Given the description of an element on the screen output the (x, y) to click on. 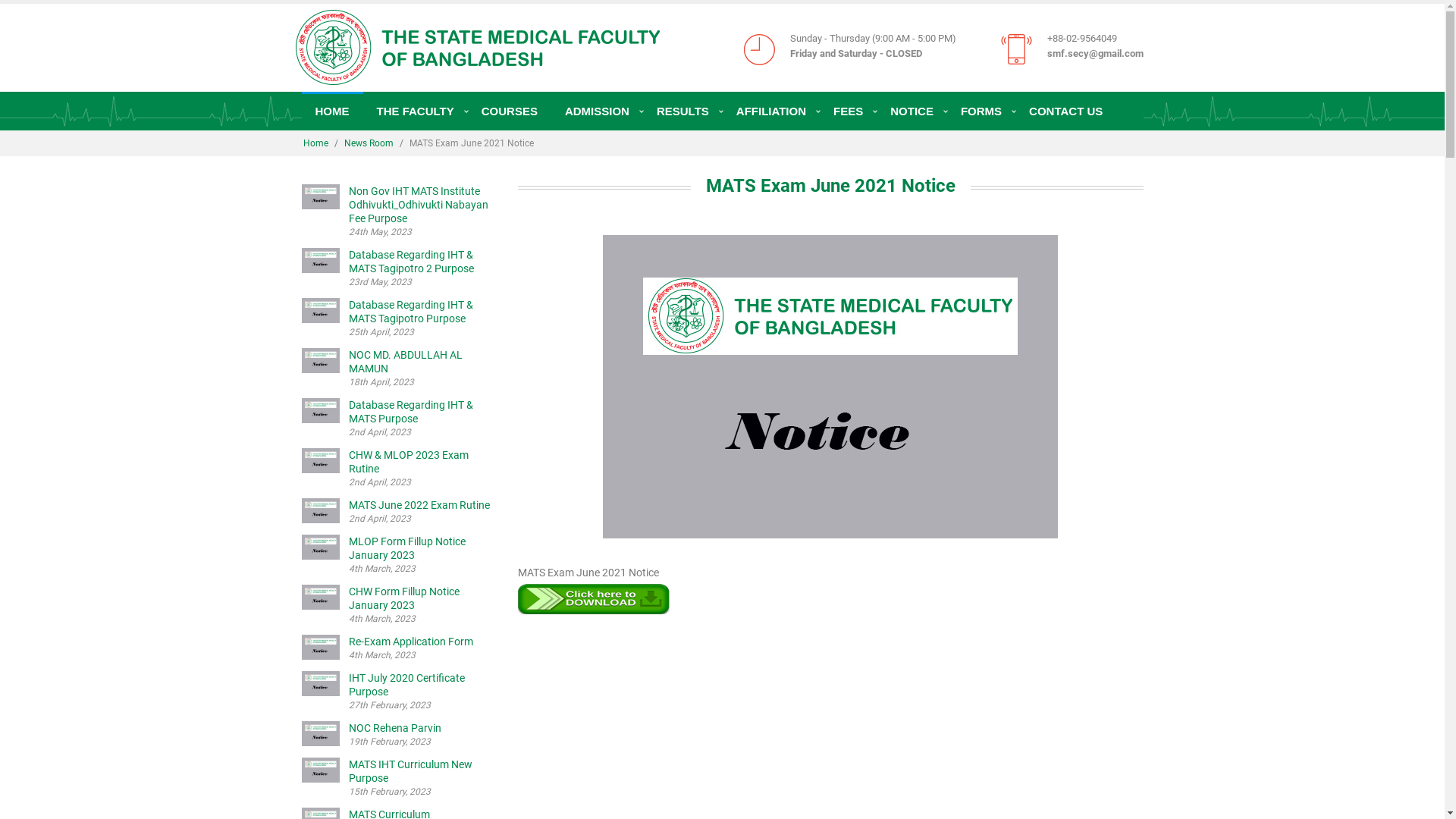
Re-Exam Application Form Element type: text (410, 641)
CONTACT US Element type: text (1065, 110)
RESULTS Element type: text (682, 110)
NOC Rehena Parvin Element type: text (394, 727)
COURSES Element type: text (509, 110)
HOME Element type: text (332, 110)
MATS June 2022 Exam Rutine Element type: text (418, 504)
FORMS Element type: text (981, 110)
AFFILIATION Element type: text (770, 110)
Database Regarding IHT & MATS Tagipotro Purpose Element type: text (410, 311)
THE FACULTY Element type: text (414, 110)
CHW & MLOP 2023 Exam Rutine Element type: text (408, 461)
Database Regarding IHT & MATS Tagipotro 2 Purpose Element type: text (410, 261)
MATS IHT Curriculum New Purpose Element type: text (410, 771)
News Room Element type: text (368, 143)
Database Regarding IHT & MATS Purpose Element type: text (410, 411)
NOTICE Element type: text (911, 110)
MLOP Form Fillup Notice January 2023 Element type: text (406, 548)
ADMISSION Element type: text (597, 110)
NOC MD. ABDULLAH AL MAMUN Element type: text (405, 361)
FEES Element type: text (847, 110)
Home Element type: text (315, 143)
IHT July 2020 Certificate Purpose Element type: text (406, 684)
CHW Form Fillup Notice January 2023 Element type: text (403, 598)
